Given the description of an element on the screen output the (x, y) to click on. 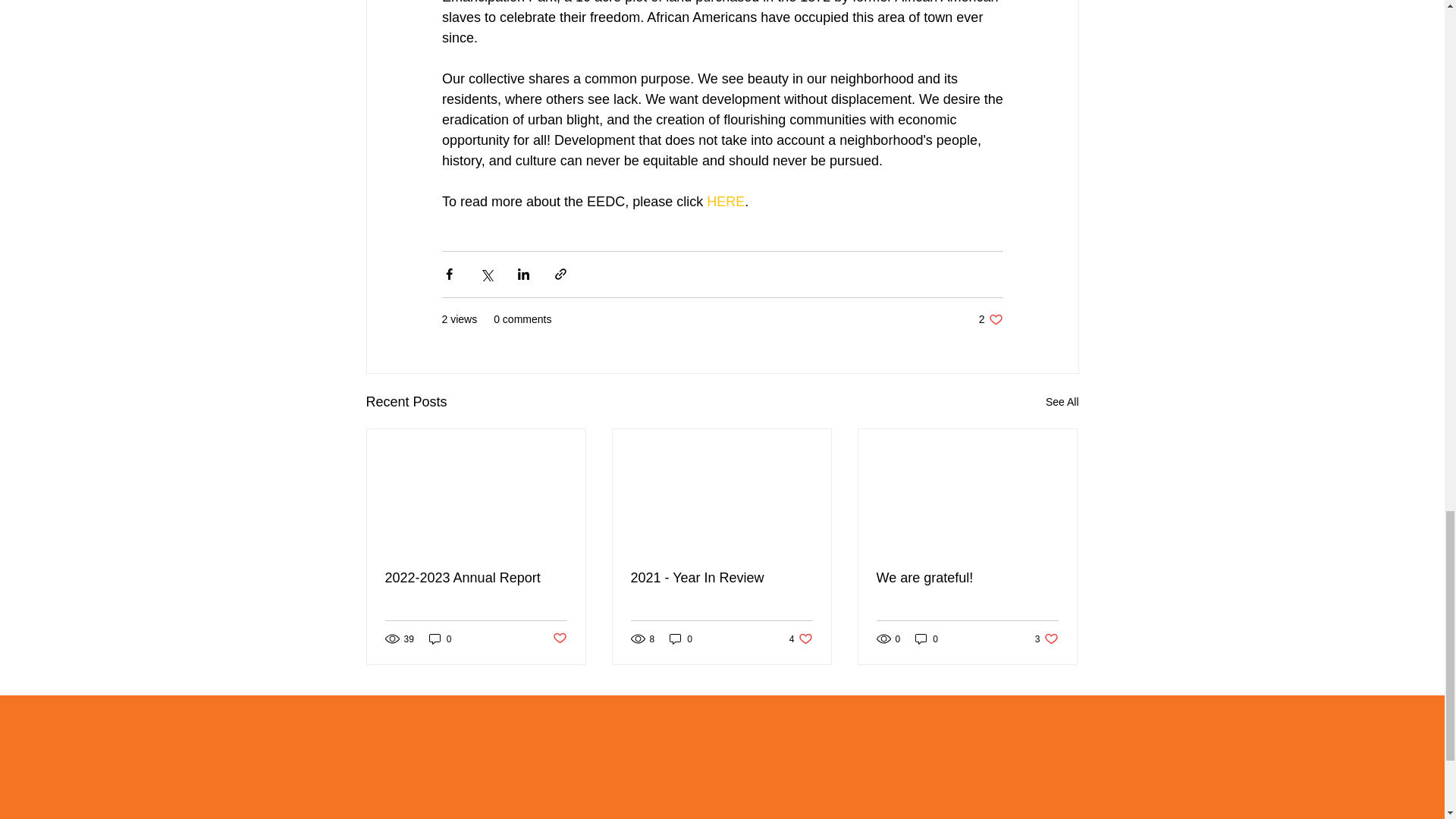
Post not marked as liked (558, 638)
See All (1061, 402)
0 (440, 638)
HERE (990, 319)
2022-2023 Annual Report (1046, 638)
2021 - Year In Review (725, 201)
0 (476, 578)
0 (721, 578)
